Given the description of an element on the screen output the (x, y) to click on. 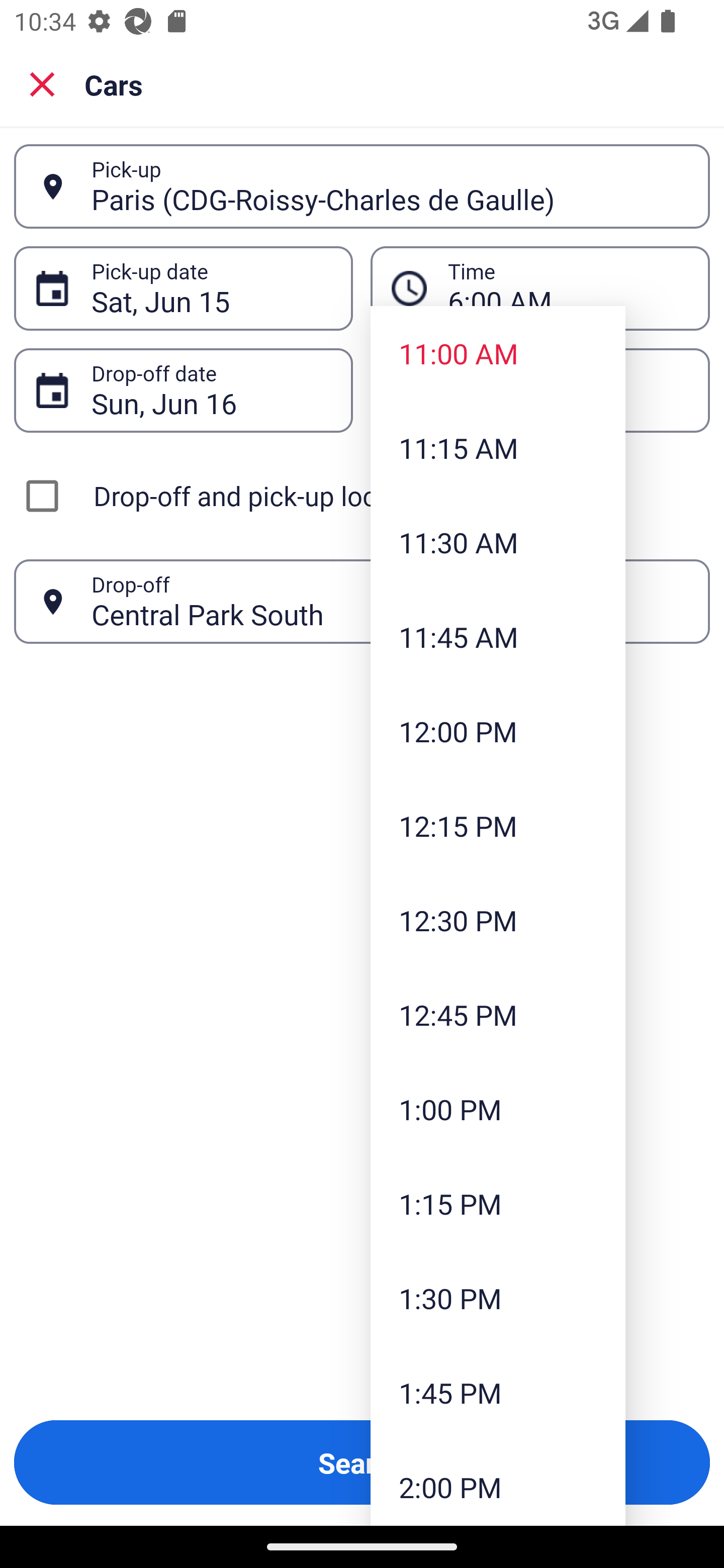
11:00 AM (497, 352)
11:15 AM (497, 447)
11:30 AM (497, 542)
11:45 AM (497, 636)
12:00 PM (497, 730)
12:15 PM (497, 825)
12:30 PM (497, 920)
12:45 PM (497, 1014)
1:00 PM (497, 1109)
1:15 PM (497, 1204)
1:30 PM (497, 1298)
1:45 PM (497, 1392)
2:00 PM (497, 1482)
